Given the description of an element on the screen output the (x, y) to click on. 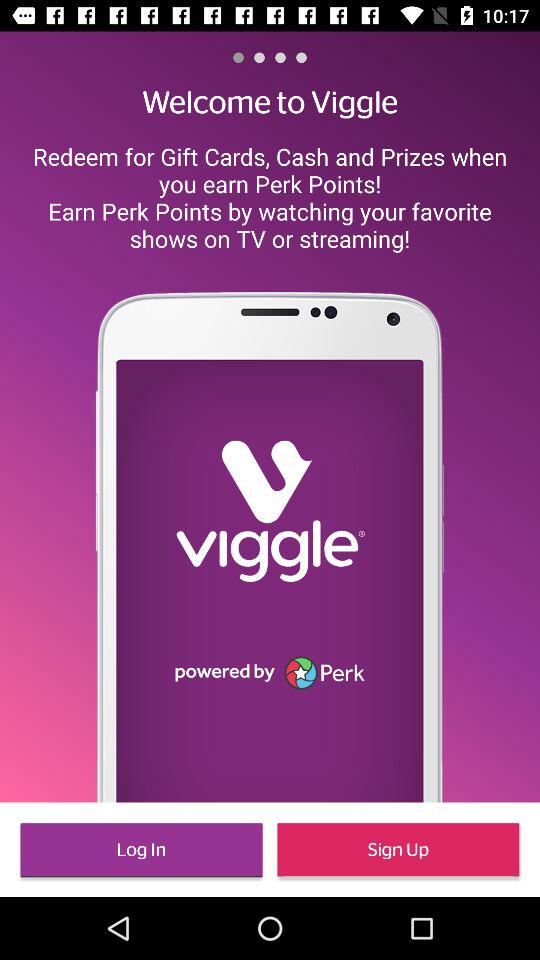
launch icon to the right of the log in icon (398, 849)
